Given the description of an element on the screen output the (x, y) to click on. 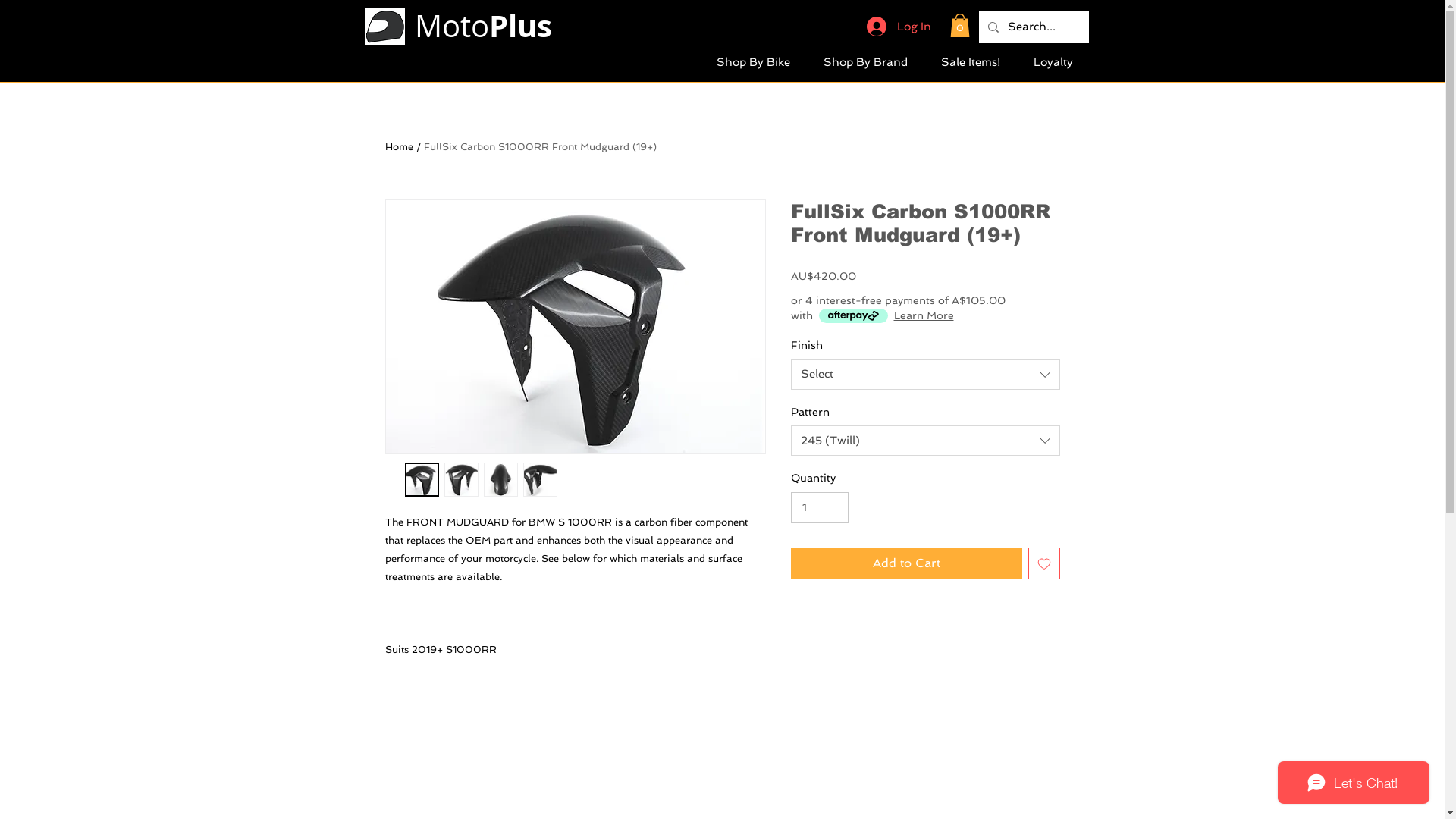
MotoPlus Element type: text (482, 25)
Home Element type: text (399, 146)
Add to Cart Element type: text (905, 563)
FullSix Carbon S1000RR Front Mudguard (19+) Element type: text (539, 146)
Sale Items! Element type: text (969, 59)
Shop By Bike Element type: text (752, 59)
Select Element type: text (924, 374)
245 (Twill) Element type: text (924, 440)
0 Element type: text (959, 25)
Learn More Element type: text (923, 315)
Loyalty Element type: text (1052, 59)
Log In Element type: text (898, 26)
